Given the description of an element on the screen output the (x, y) to click on. 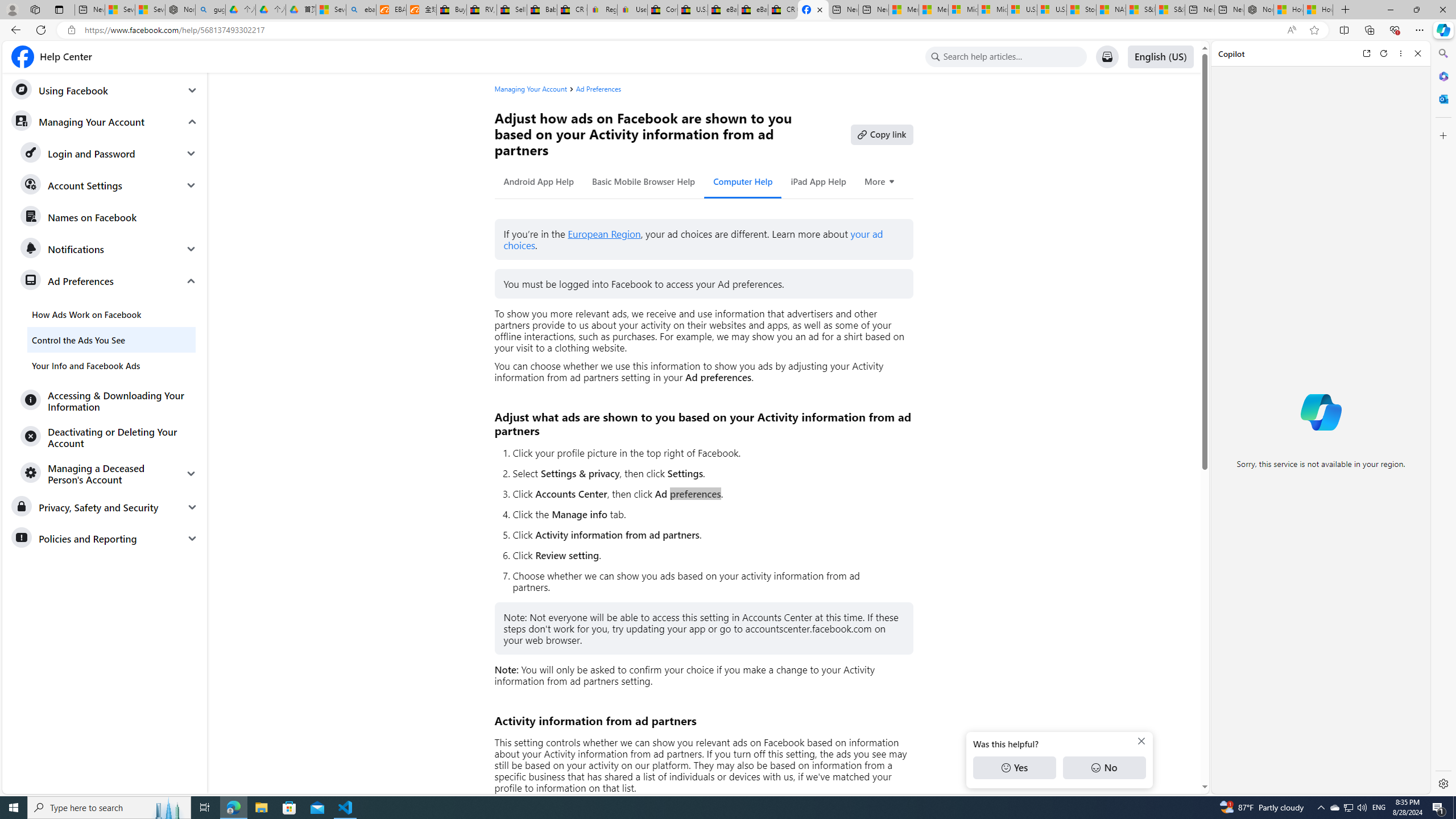
Facebook Help Center (51, 56)
Customize (1442, 135)
Notifications Expand (109, 249)
More (879, 181)
